Given the description of an element on the screen output the (x, y) to click on. 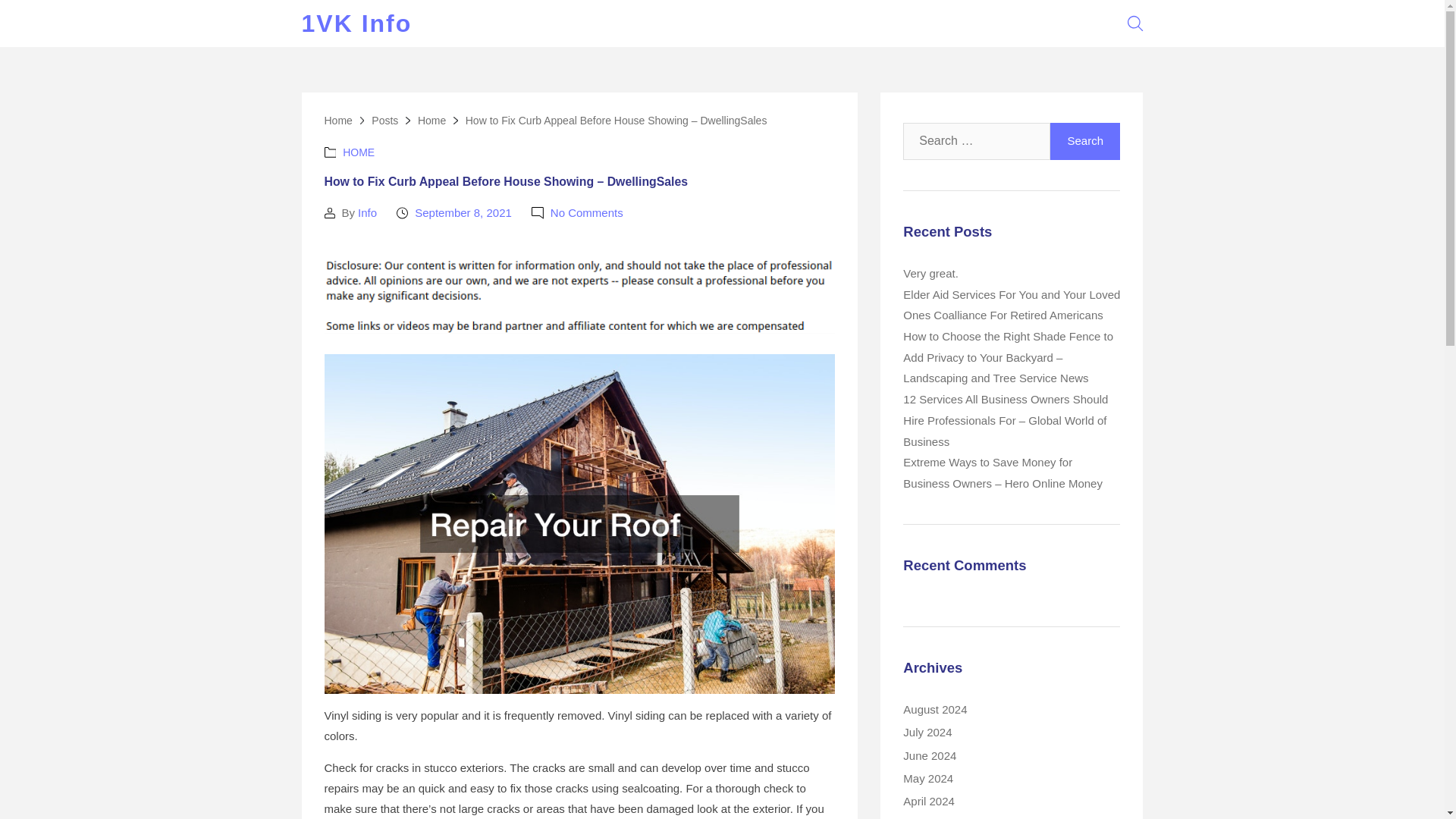
August 2024 (934, 708)
April 2024 (928, 800)
June 2024 (929, 755)
Search (1085, 140)
1VK Info (356, 23)
HOME (358, 152)
May 2024 (927, 778)
Home (431, 120)
March 2024 (932, 818)
Search (1085, 140)
Posts (384, 120)
Search (1085, 140)
Very great. (930, 273)
Home (338, 120)
